Given the description of an element on the screen output the (x, y) to click on. 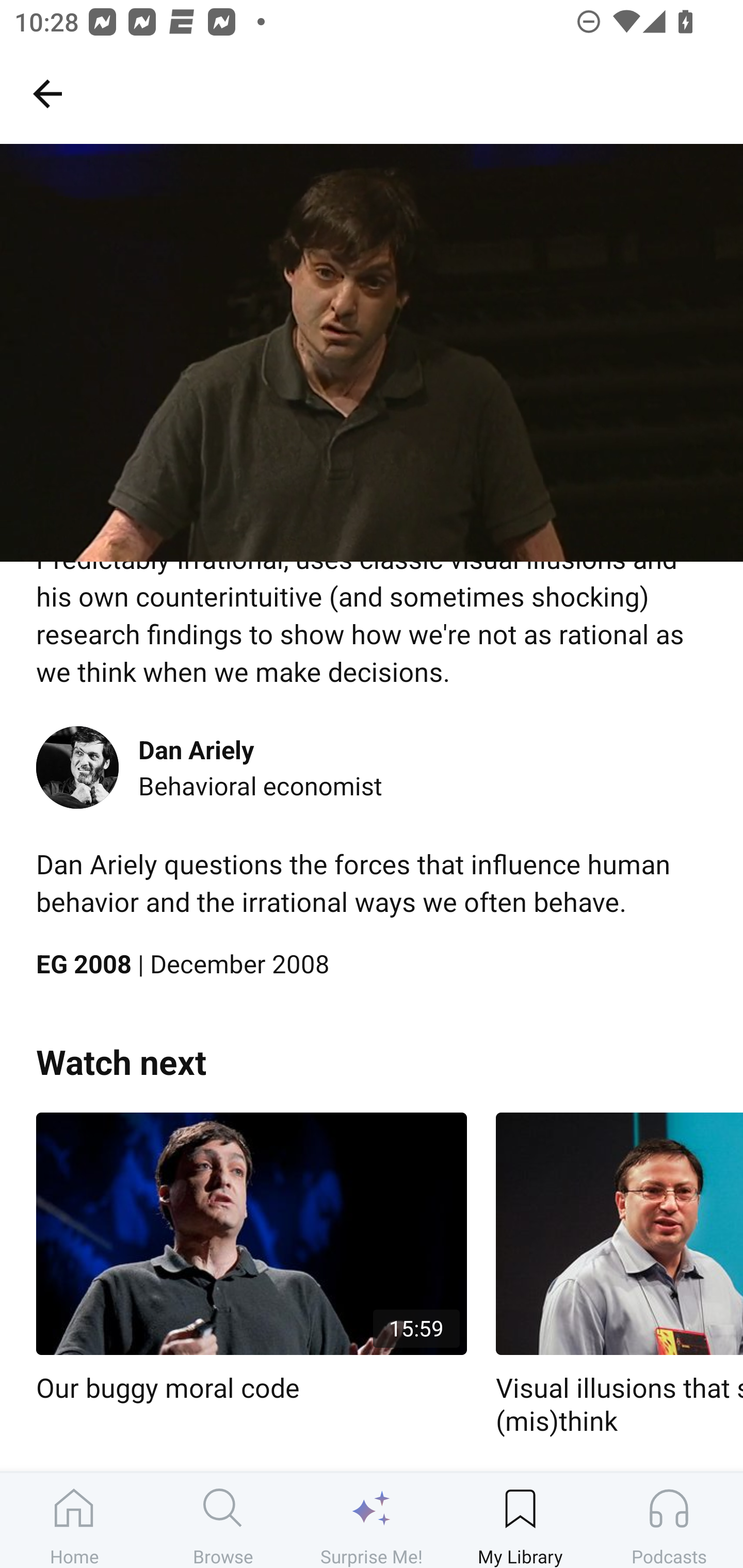
My Library, back (47, 92)
15:59 Our buggy moral code (251, 1258)
Visual illusions that show how we (mis)think (619, 1275)
Home (74, 1520)
Browse (222, 1520)
Surprise Me! (371, 1520)
My Library (519, 1520)
Podcasts (668, 1520)
